Given the description of an element on the screen output the (x, y) to click on. 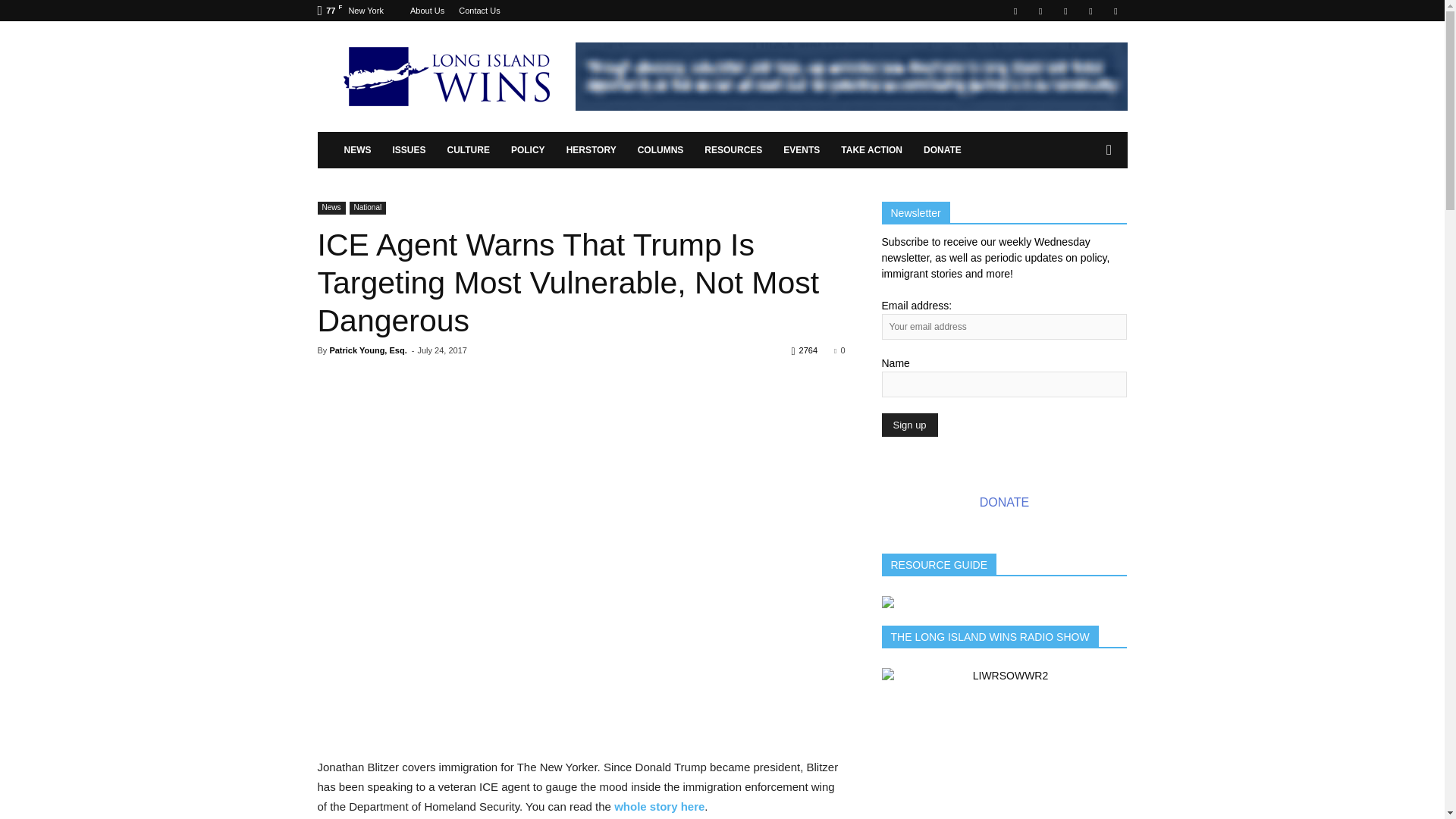
Soundcloud (1065, 10)
Twitter (1090, 10)
Sign up (908, 424)
Youtube (1114, 10)
Instagram (1040, 10)
Facebook (1015, 10)
